Given the description of an element on the screen output the (x, y) to click on. 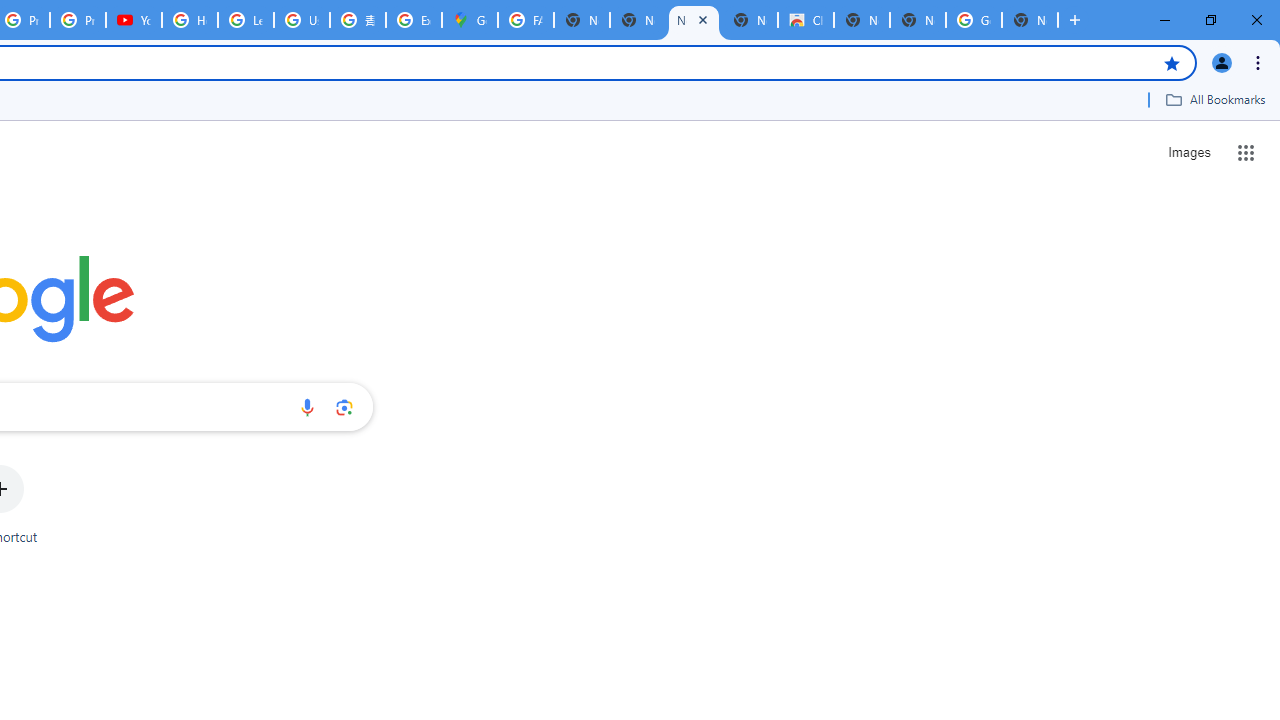
Chrome Web Store (806, 20)
Explore new street-level details - Google Maps Help (413, 20)
New Tab (1030, 20)
Google Images (973, 20)
